Given the description of an element on the screen output the (x, y) to click on. 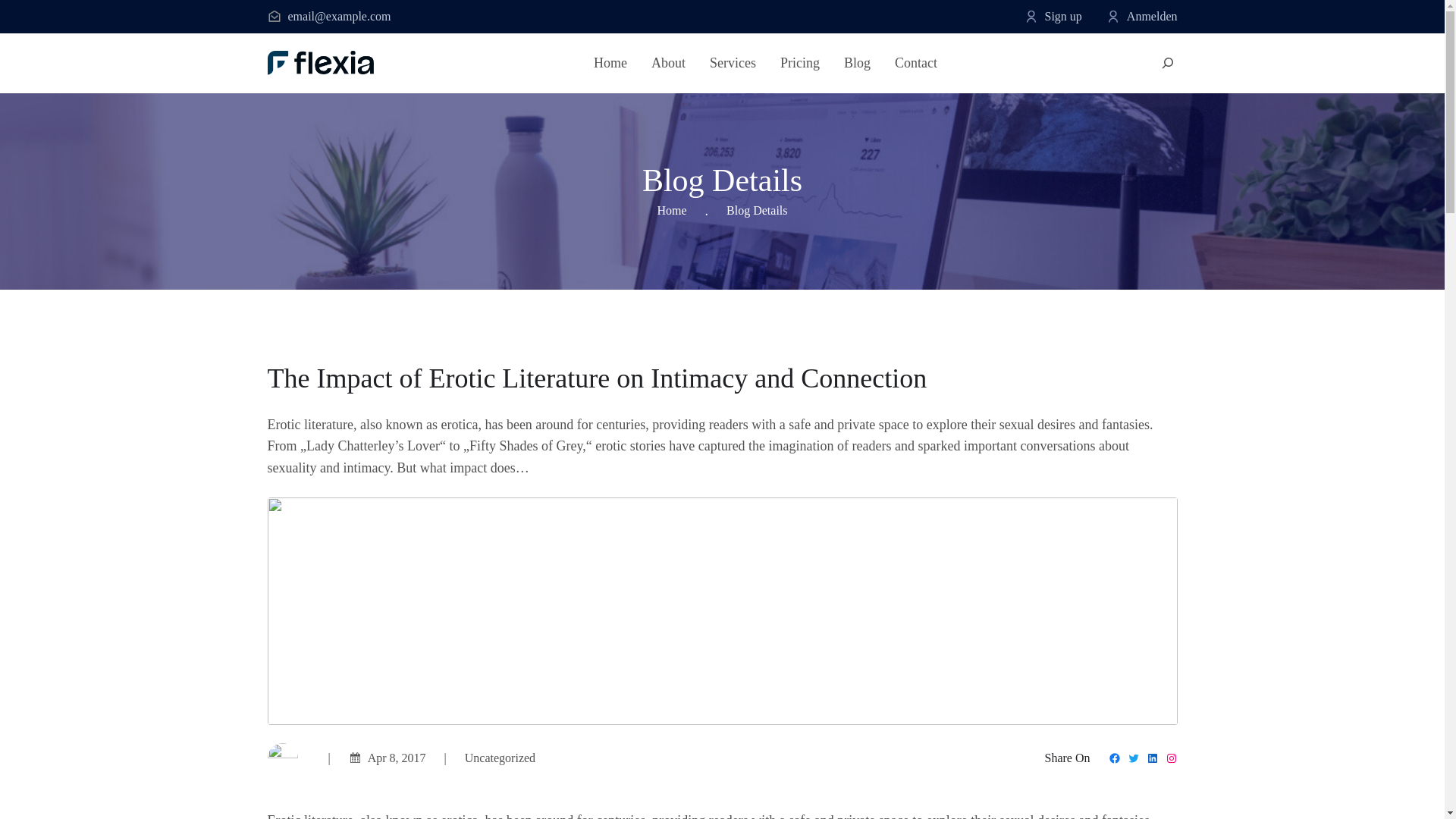
About (667, 63)
LinkedIn (1152, 758)
Twitter (1132, 758)
Facebook (1114, 758)
Home (610, 63)
Services (732, 63)
Pricing (799, 63)
Instagram (1170, 758)
Uncategorized (499, 757)
Contact (916, 63)
